Given the description of an element on the screen output the (x, y) to click on. 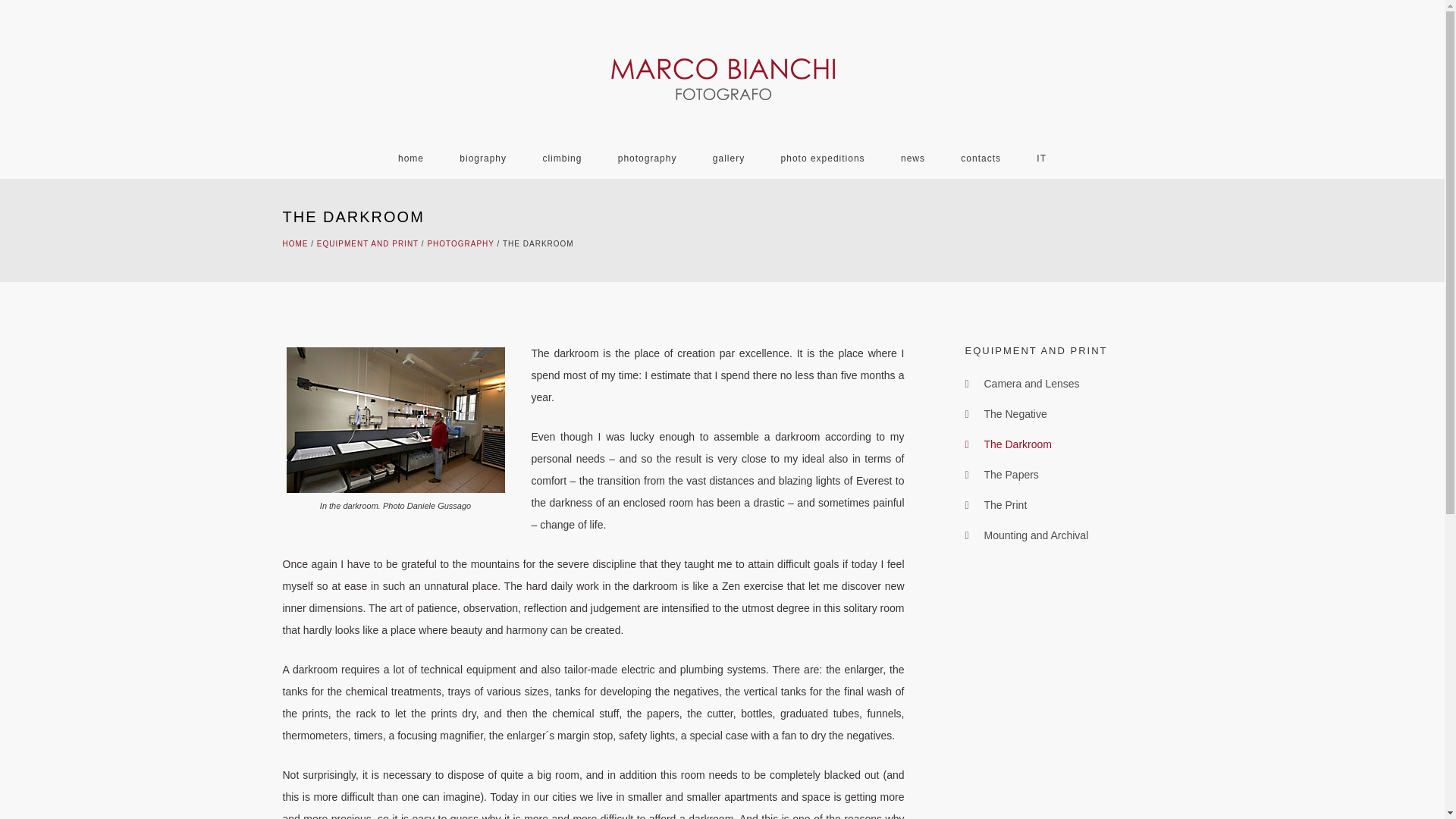
gallery (728, 158)
photo expeditions (823, 158)
news (912, 158)
home (411, 158)
climbing (561, 158)
IT (1041, 158)
photography (647, 158)
contacts (980, 158)
biography (482, 158)
